Given the description of an element on the screen output the (x, y) to click on. 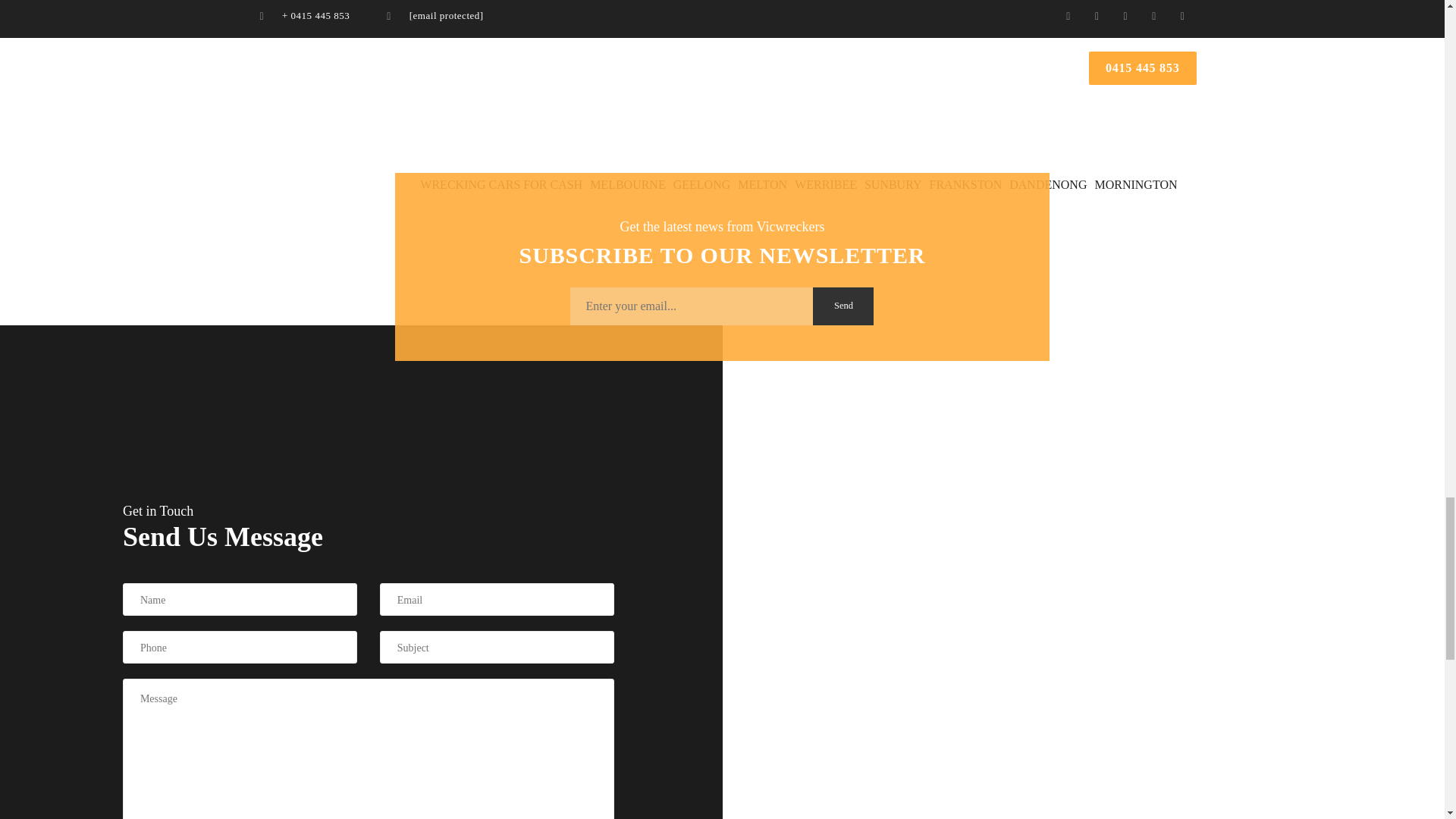
Send (842, 306)
